Given the description of an element on the screen output the (x, y) to click on. 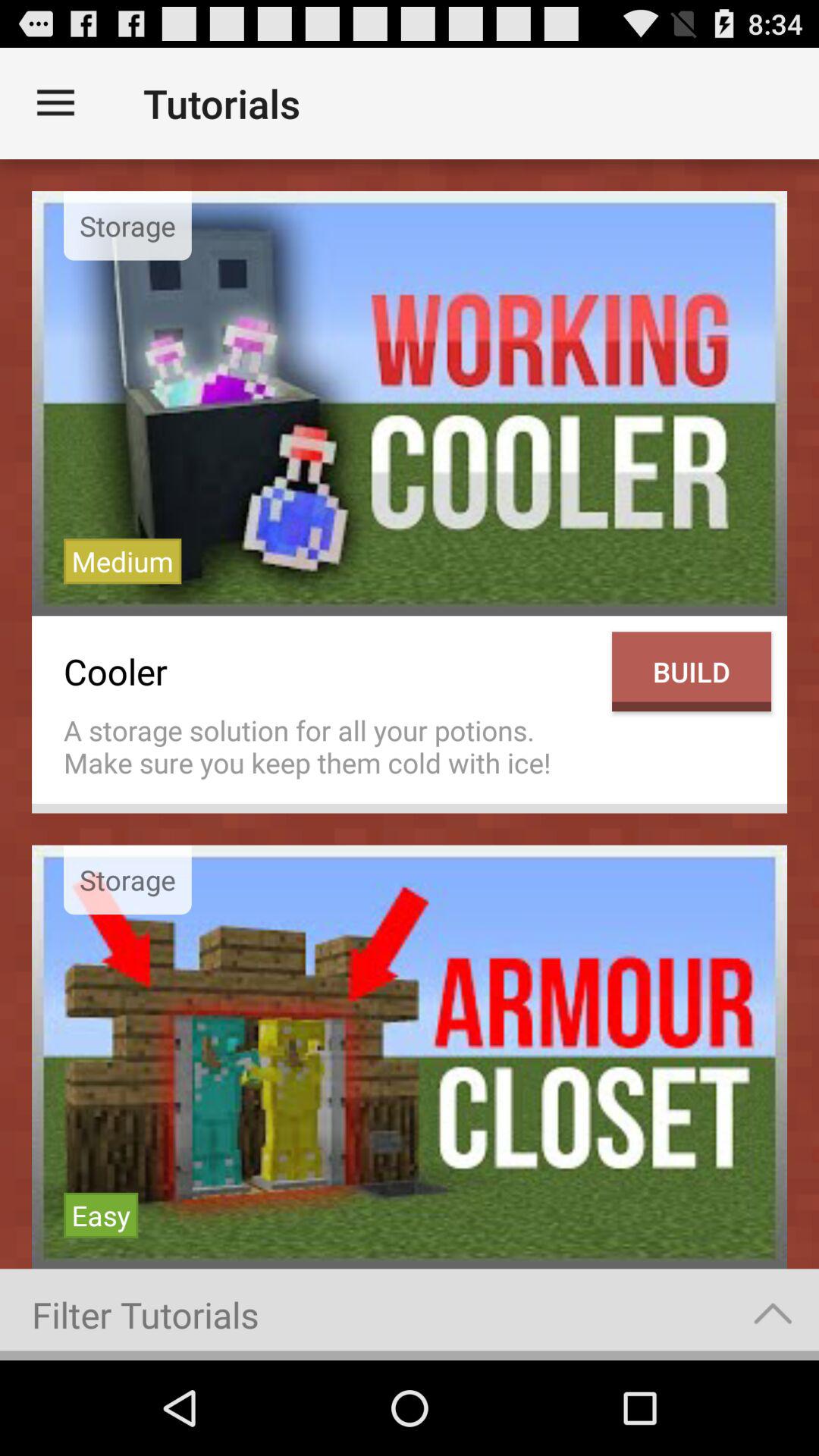
launch the item above filter tutorials item (100, 1215)
